Given the description of an element on the screen output the (x, y) to click on. 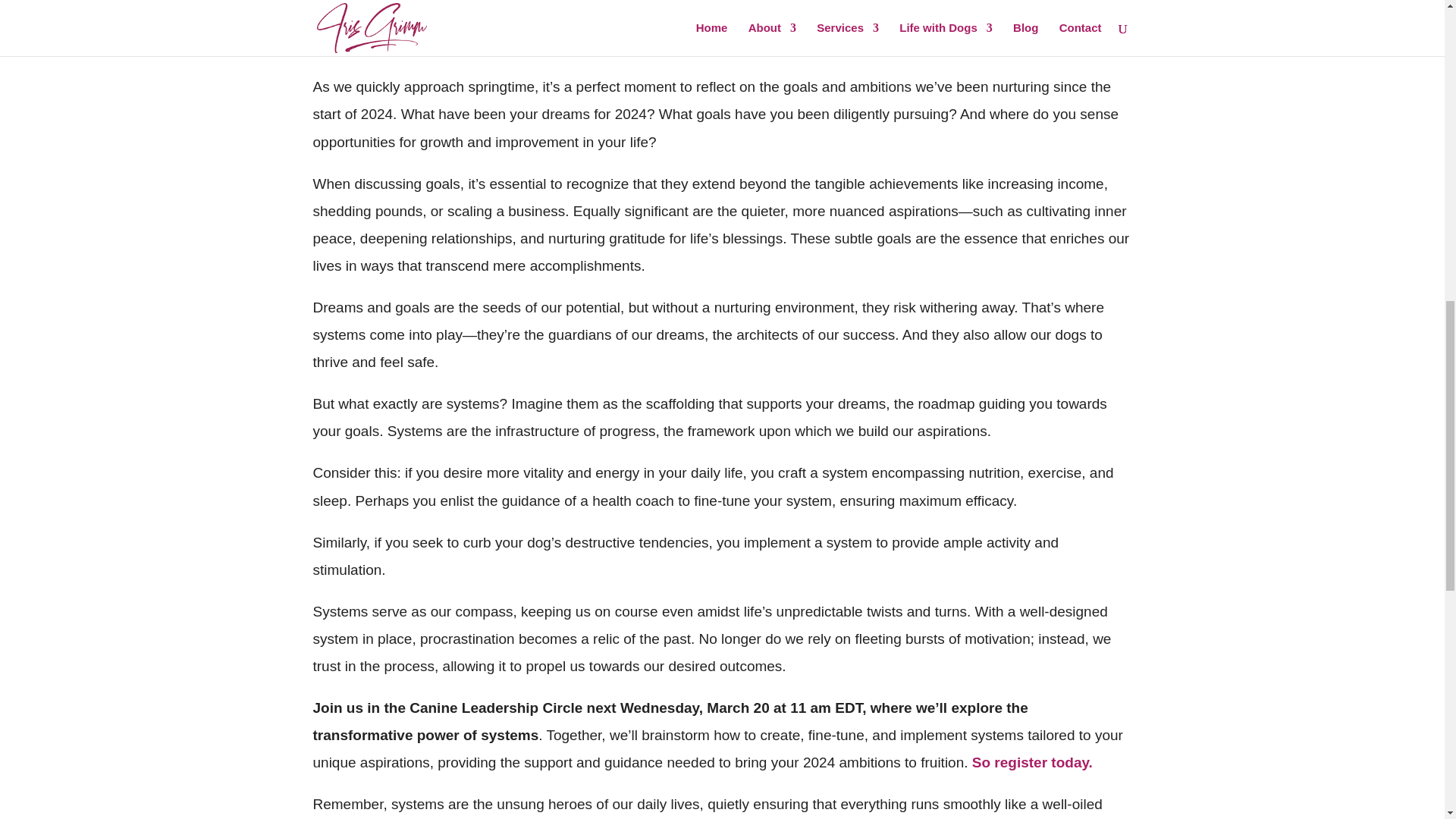
So register today. (1032, 762)
